Given the description of an element on the screen output the (x, y) to click on. 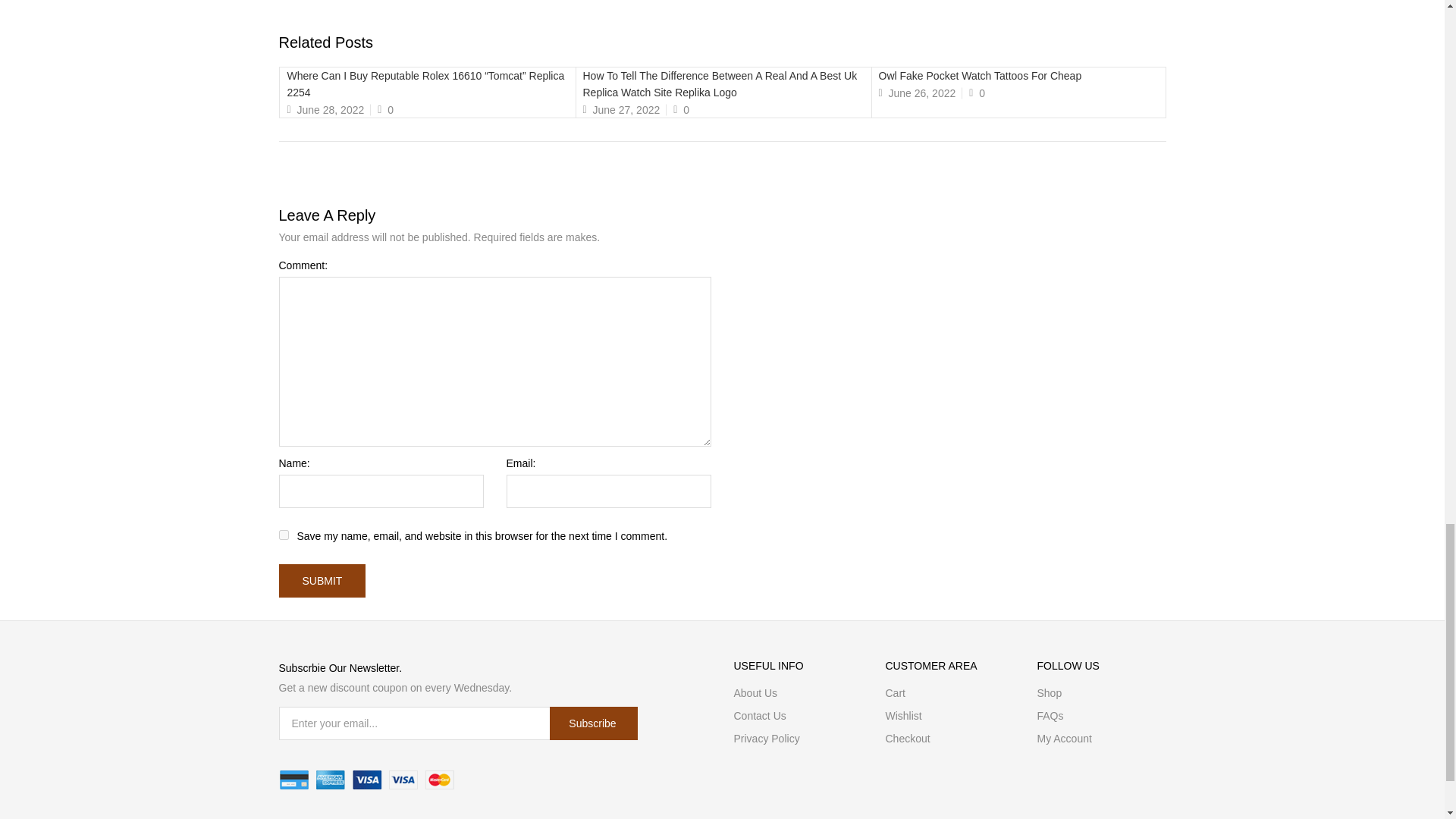
submit (322, 580)
payments (366, 779)
subscribe (593, 723)
yes (283, 534)
